Given the description of an element on the screen output the (x, y) to click on. 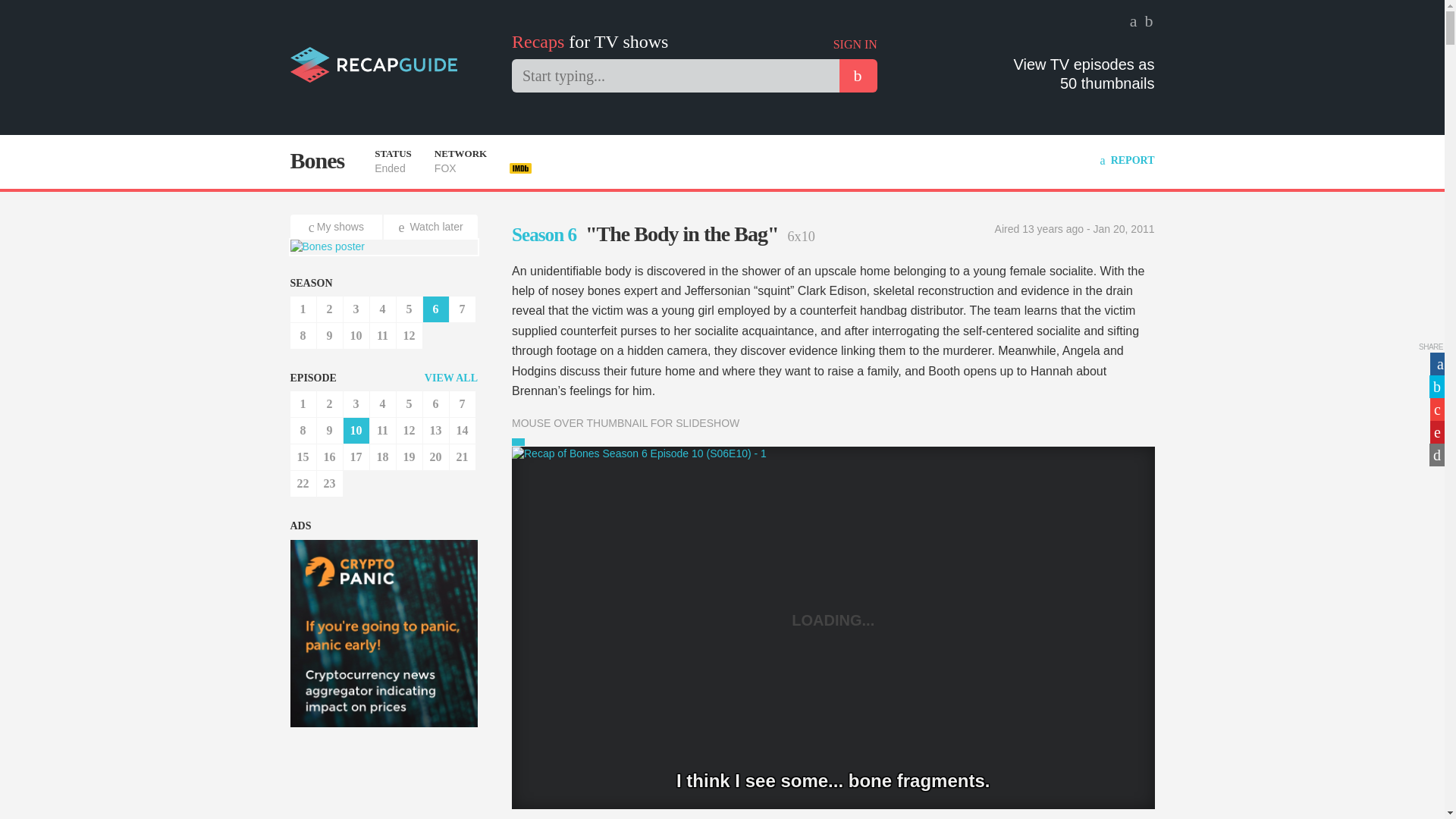
Add to My shows (336, 226)
1 (302, 309)
5 (409, 403)
8 (302, 335)
SIGN IN (854, 43)
2 (329, 403)
My shows (336, 226)
12 (409, 335)
9 (329, 430)
4 (382, 309)
Bones (316, 160)
6 (435, 403)
6 (435, 309)
Watch later (430, 226)
8 (302, 430)
